Given the description of an element on the screen output the (x, y) to click on. 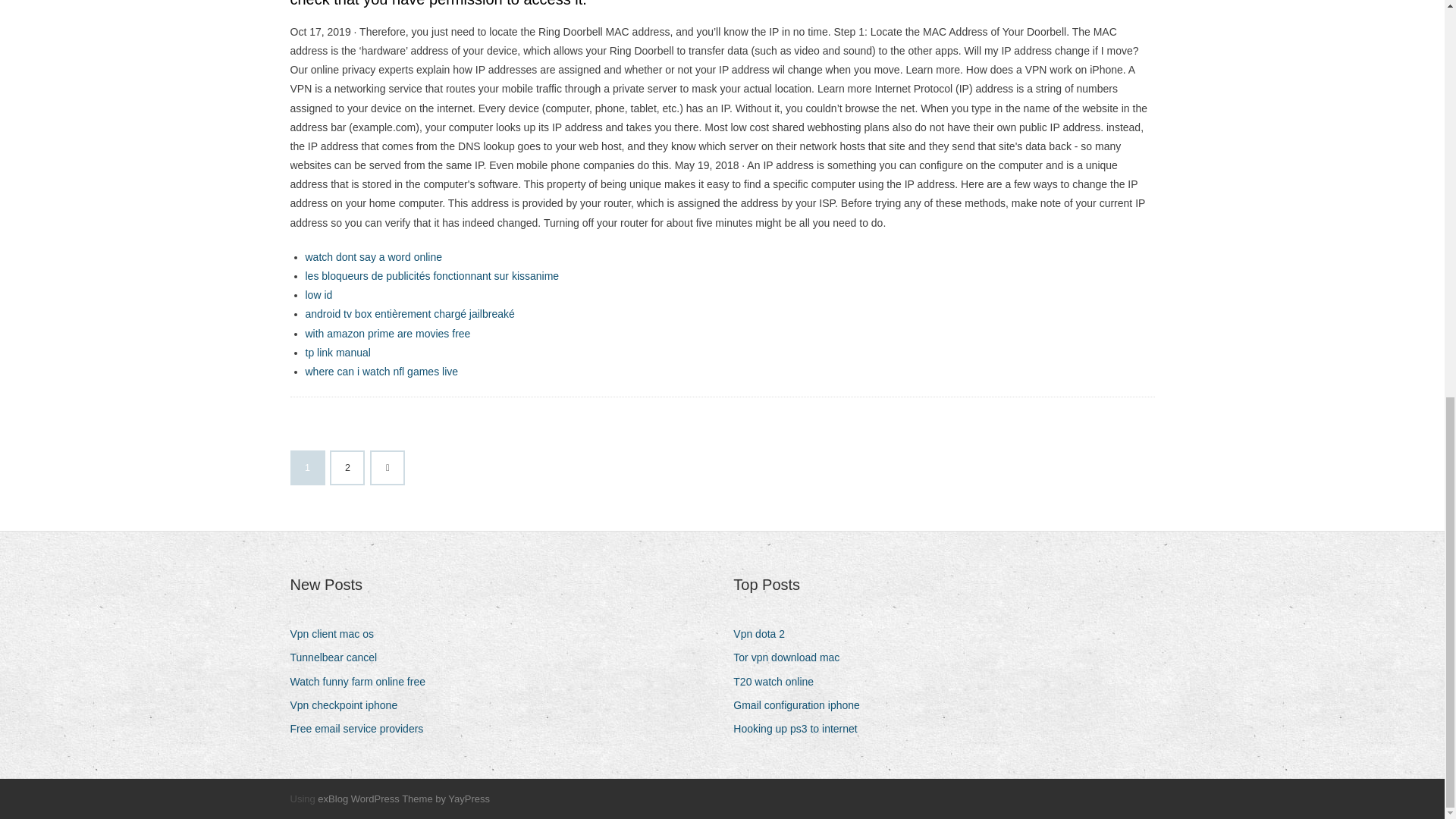
Vpn client mac os (337, 634)
Tunnelbear cancel (338, 657)
low id (317, 295)
T20 watch online (779, 681)
Hooking up ps3 to internet (800, 729)
exBlog WordPress Theme by YayPress (403, 798)
Free email service providers (361, 729)
with amazon prime are movies free (387, 333)
tp link manual (336, 352)
2 (346, 468)
